Given the description of an element on the screen output the (x, y) to click on. 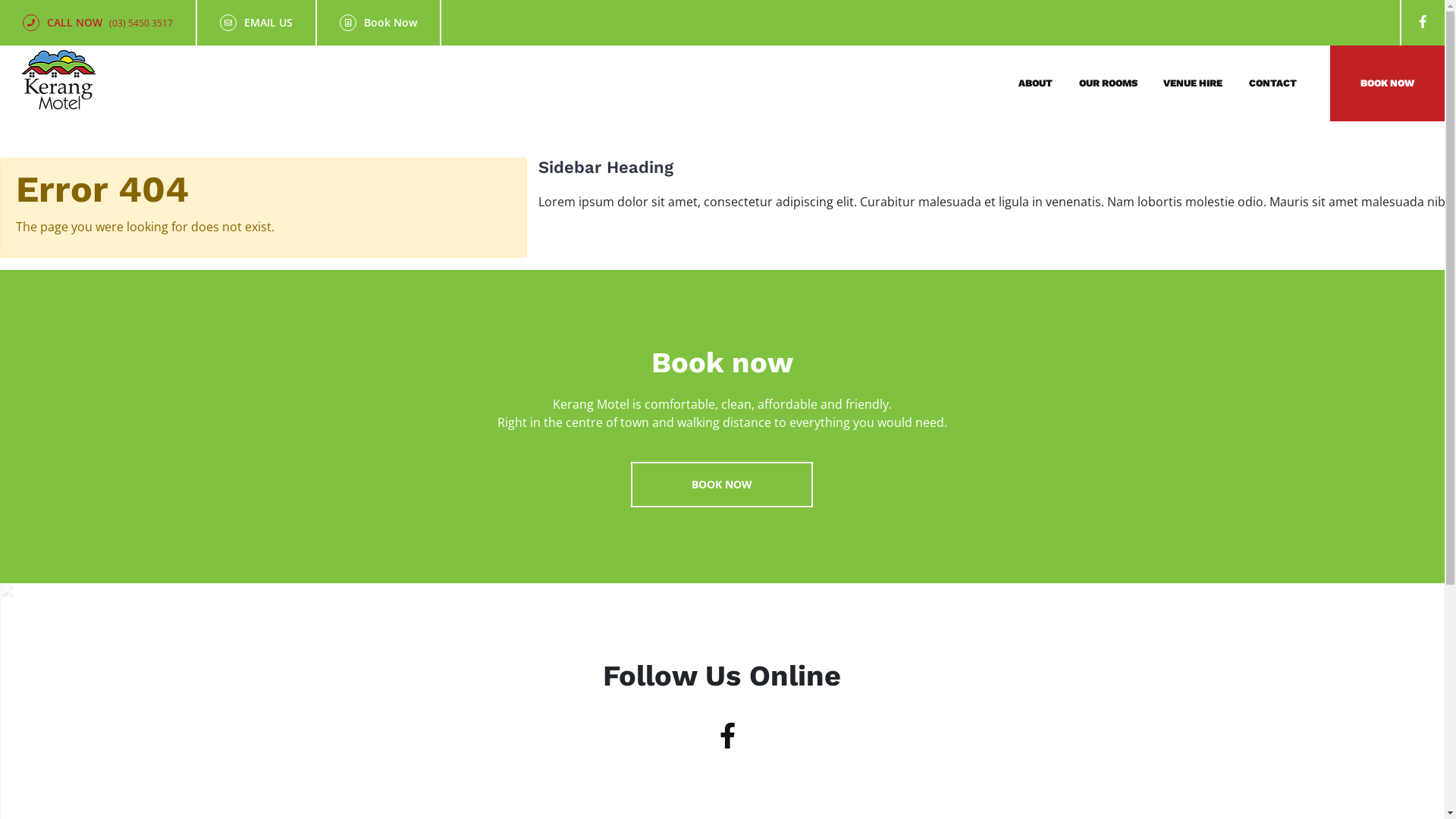
OUR ROOMS Element type: text (1107, 83)
BOOK NOW Element type: text (721, 484)
VENUE HIRE Element type: text (1192, 83)
CONTACT Element type: text (1272, 83)
ABOUT Element type: text (1035, 83)
BOOK NOW Element type: text (1387, 83)
